Given the description of an element on the screen output the (x, y) to click on. 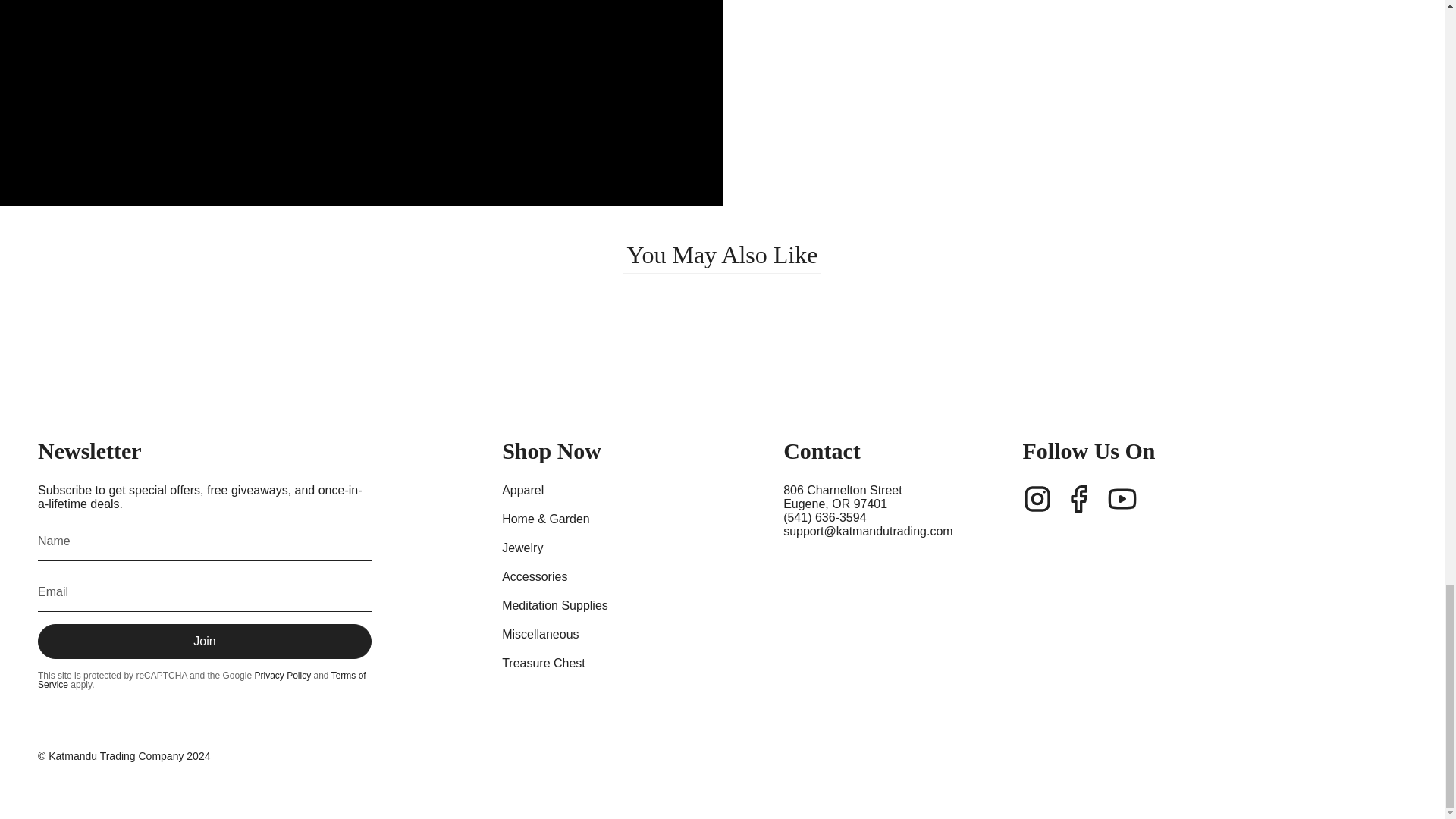
Katmandu Trading Company on Instagram (1037, 498)
Katmandu Trading Company on Facebook (1079, 498)
Katmandu Trading Company on YouTube (1121, 498)
